Given the description of an element on the screen output the (x, y) to click on. 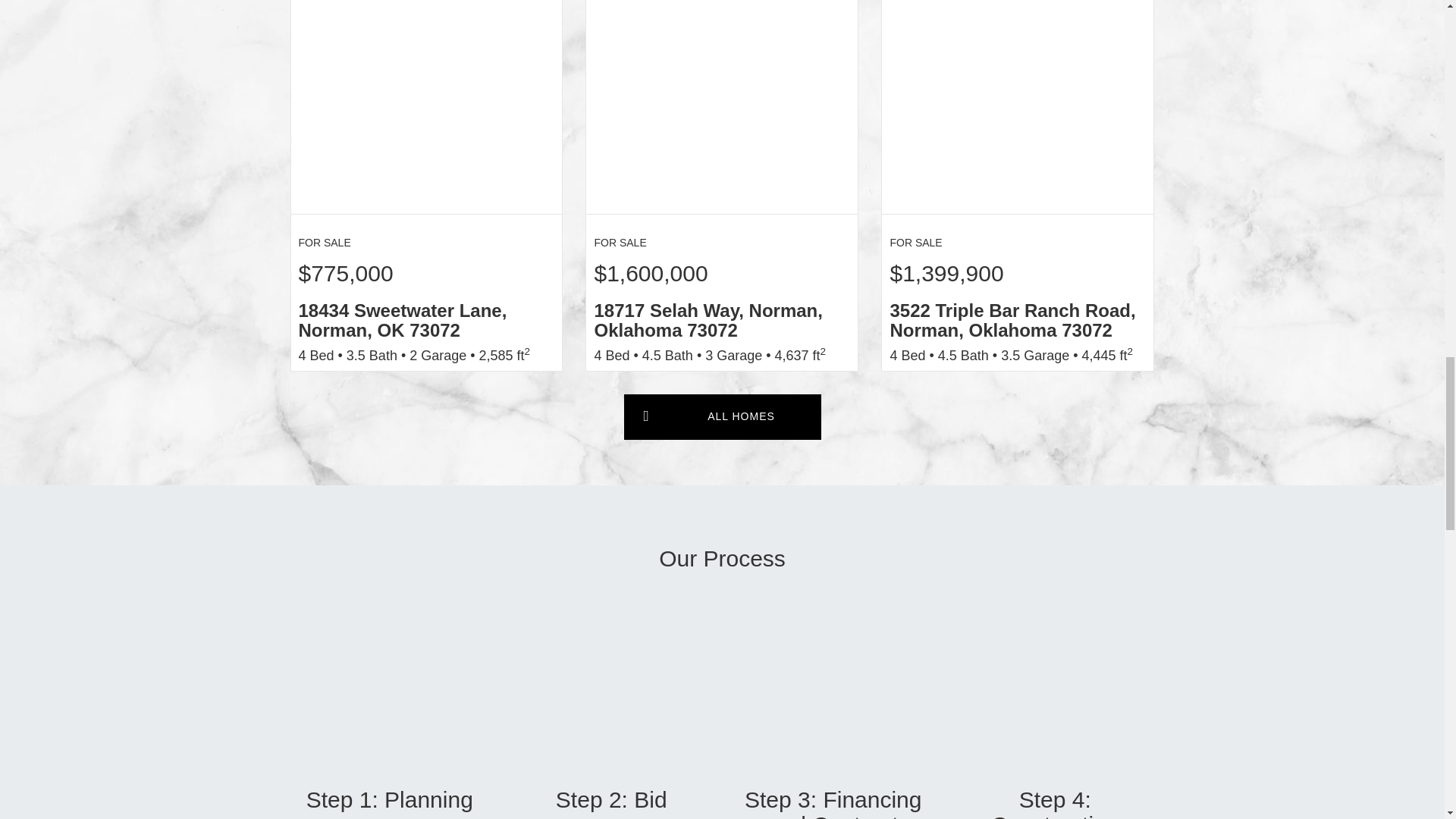
ALL HOMES (722, 416)
